Given the description of an element on the screen output the (x, y) to click on. 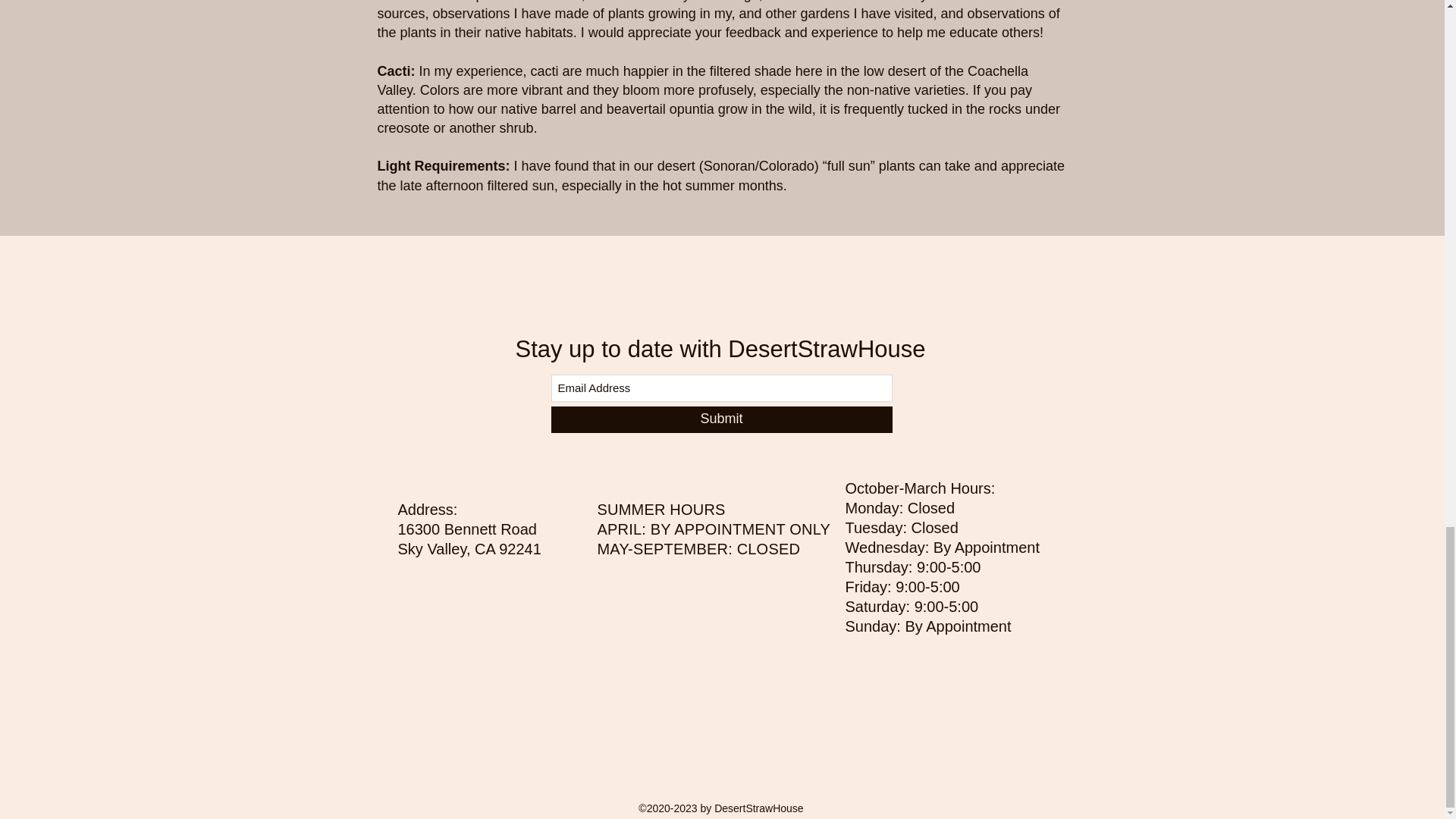
Submit (720, 419)
